Given the description of an element on the screen output the (x, y) to click on. 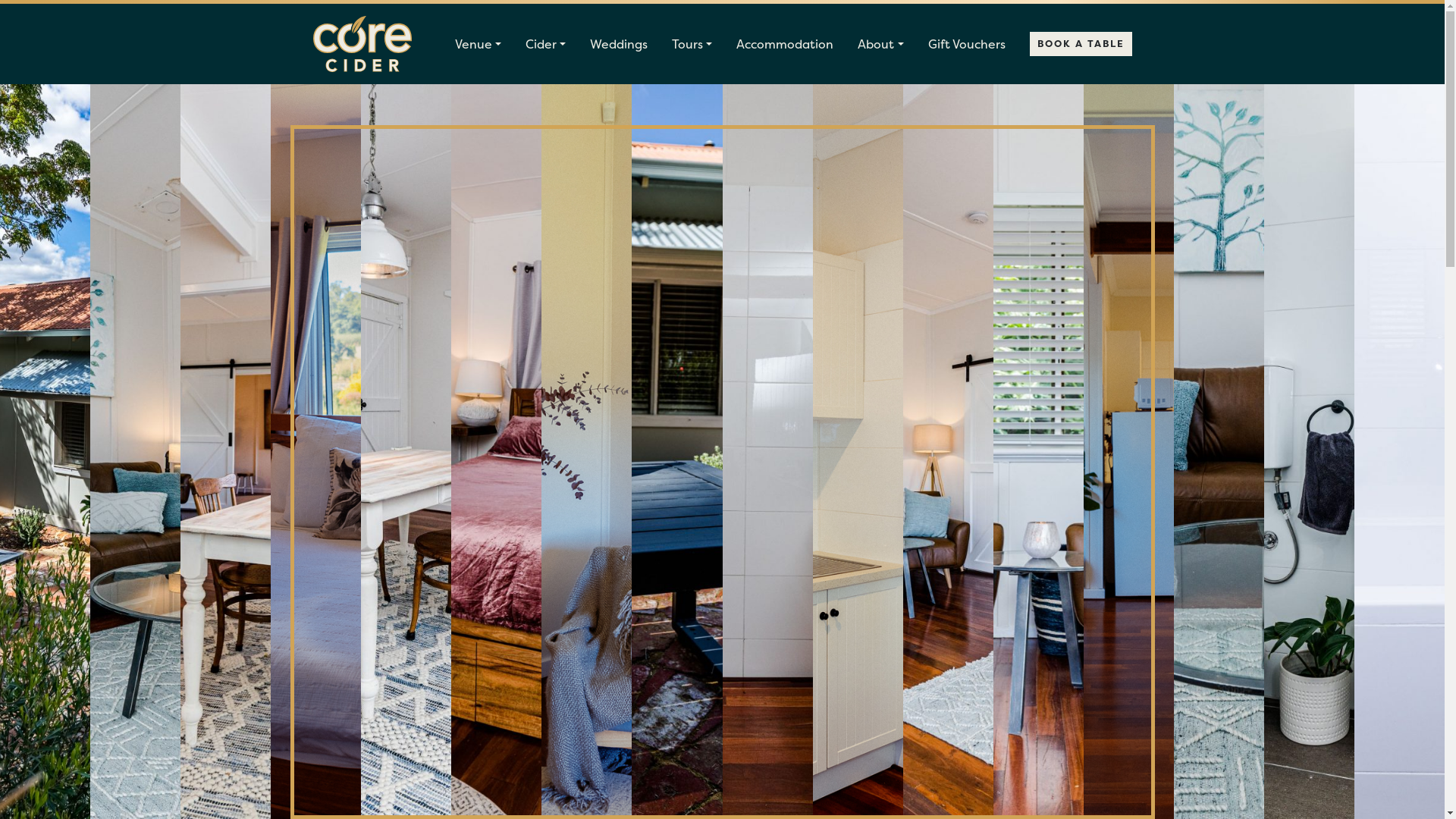
About Element type: text (880, 43)
Accommodation Element type: text (784, 43)
Tours Element type: text (691, 43)
logo Element type: text (361, 43)
Venue Element type: text (478, 43)
Weddings Element type: text (618, 43)
Gift Vouchers Element type: text (966, 43)
Cider Element type: text (545, 43)
BOOK A TABLE Element type: text (1080, 43)
